Given the description of an element on the screen output the (x, y) to click on. 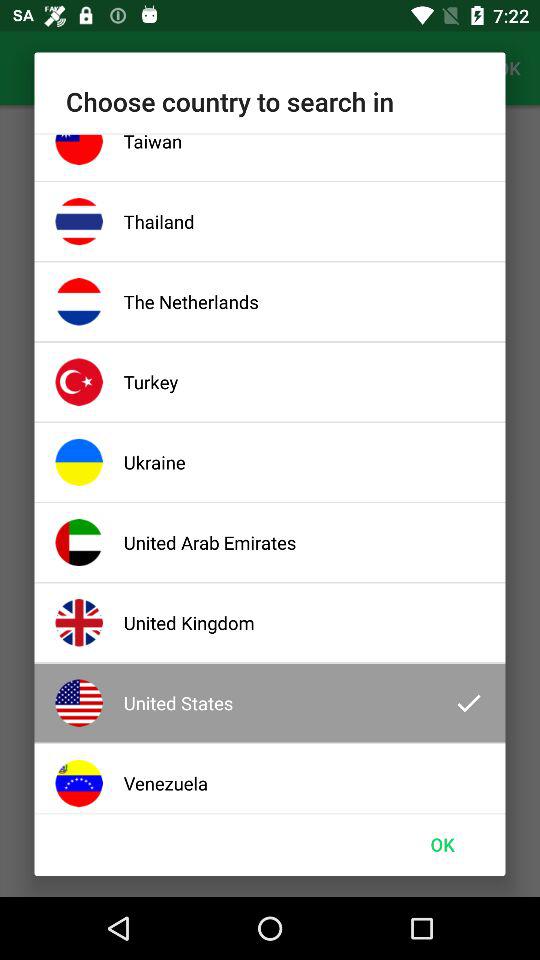
turn on ok (442, 844)
